Given the description of an element on the screen output the (x, y) to click on. 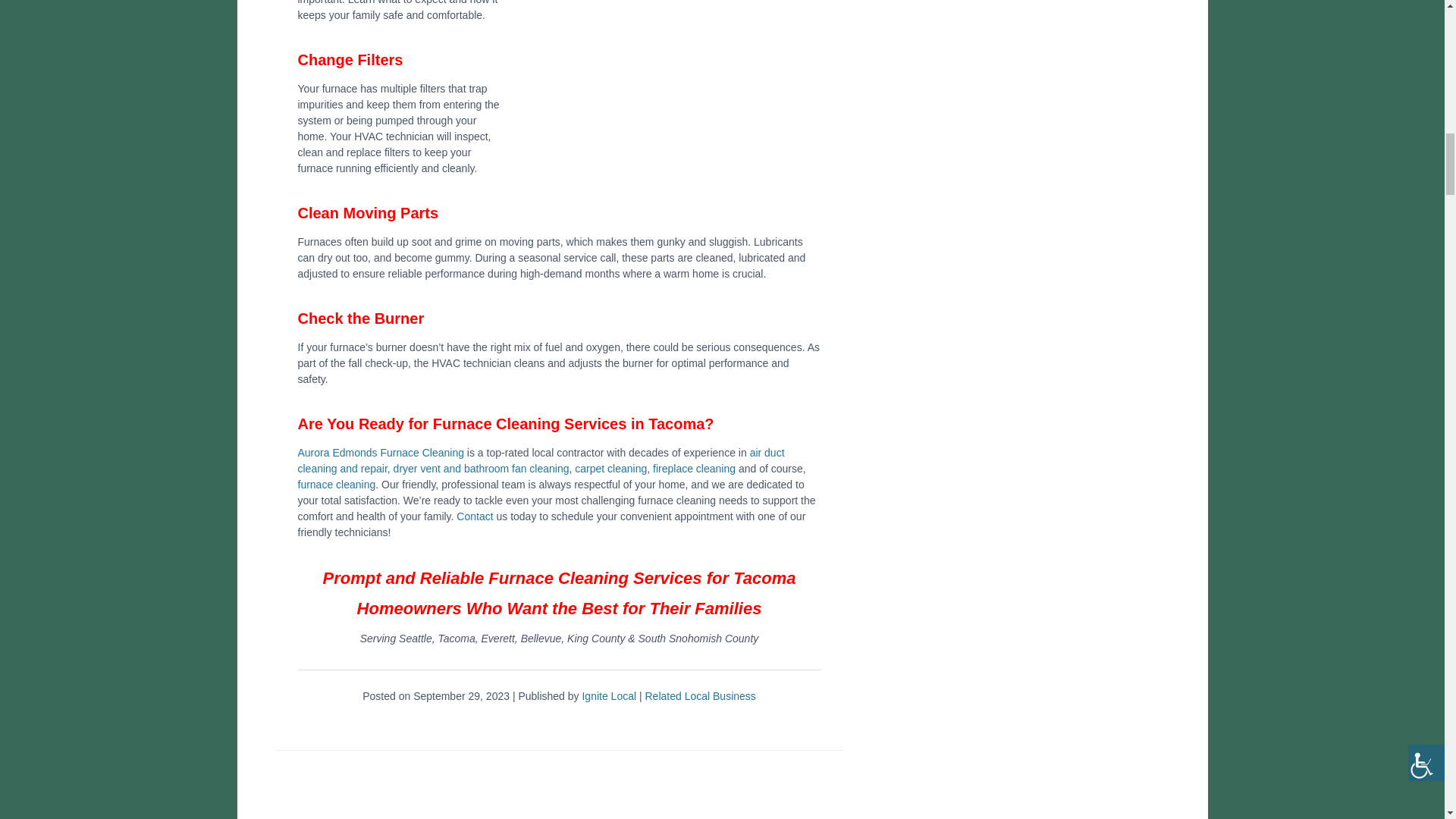
carpet cleaning (610, 468)
fireplace cleaning (693, 468)
air duct cleaning and repair, (540, 460)
furnace cleaning (336, 484)
Aurora Edmonds Furnace Cleaning (380, 452)
dryer vent and bathroom fan cleaning (481, 468)
